Given the description of an element on the screen output the (x, y) to click on. 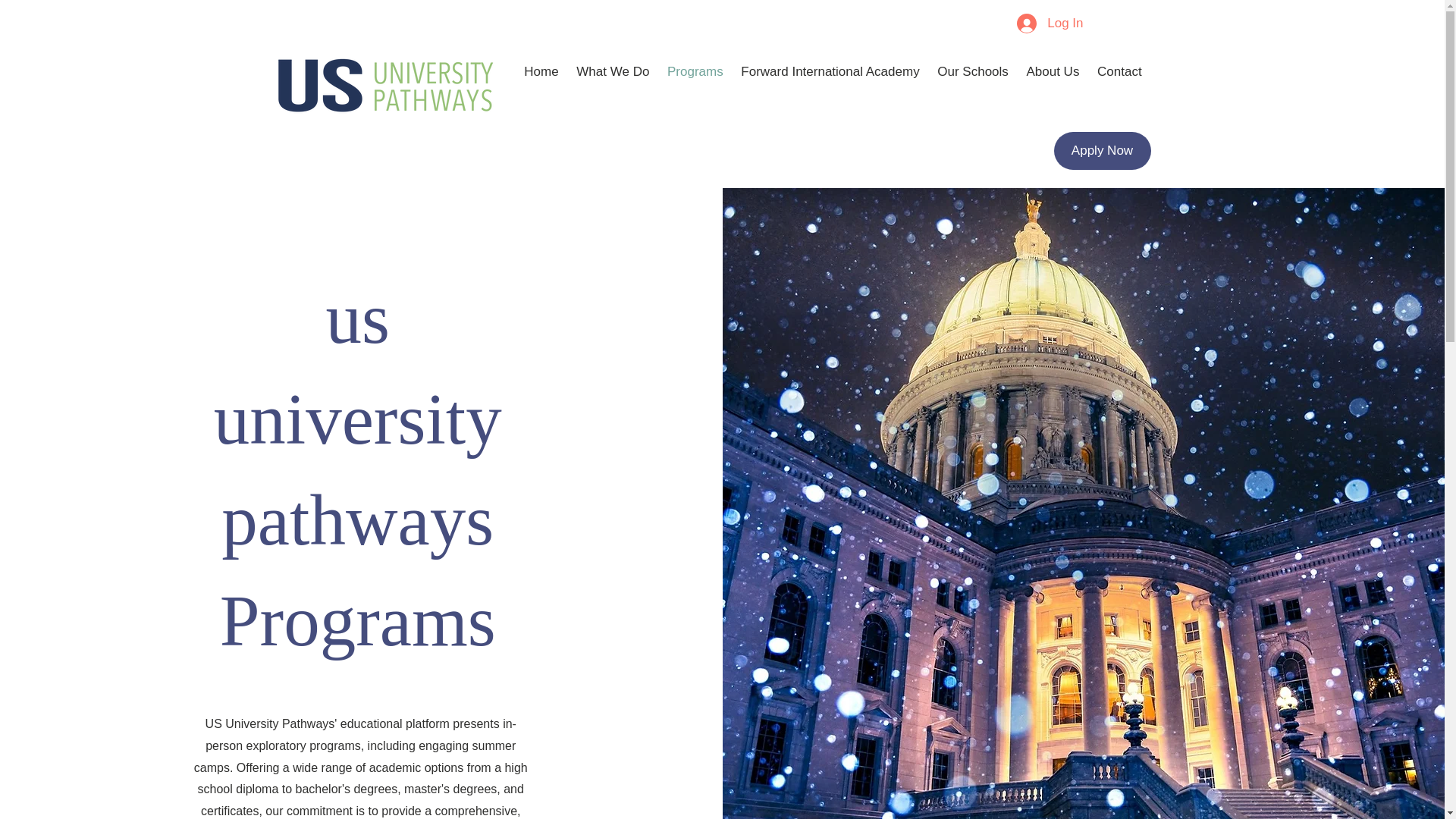
Log In (1049, 23)
Programs (695, 71)
Contact (1118, 71)
Our Schools (972, 71)
Forward International Academy (830, 71)
Home (541, 71)
Apply Now (1102, 150)
About Us (1053, 71)
What We Do (612, 71)
